Given the description of an element on the screen output the (x, y) to click on. 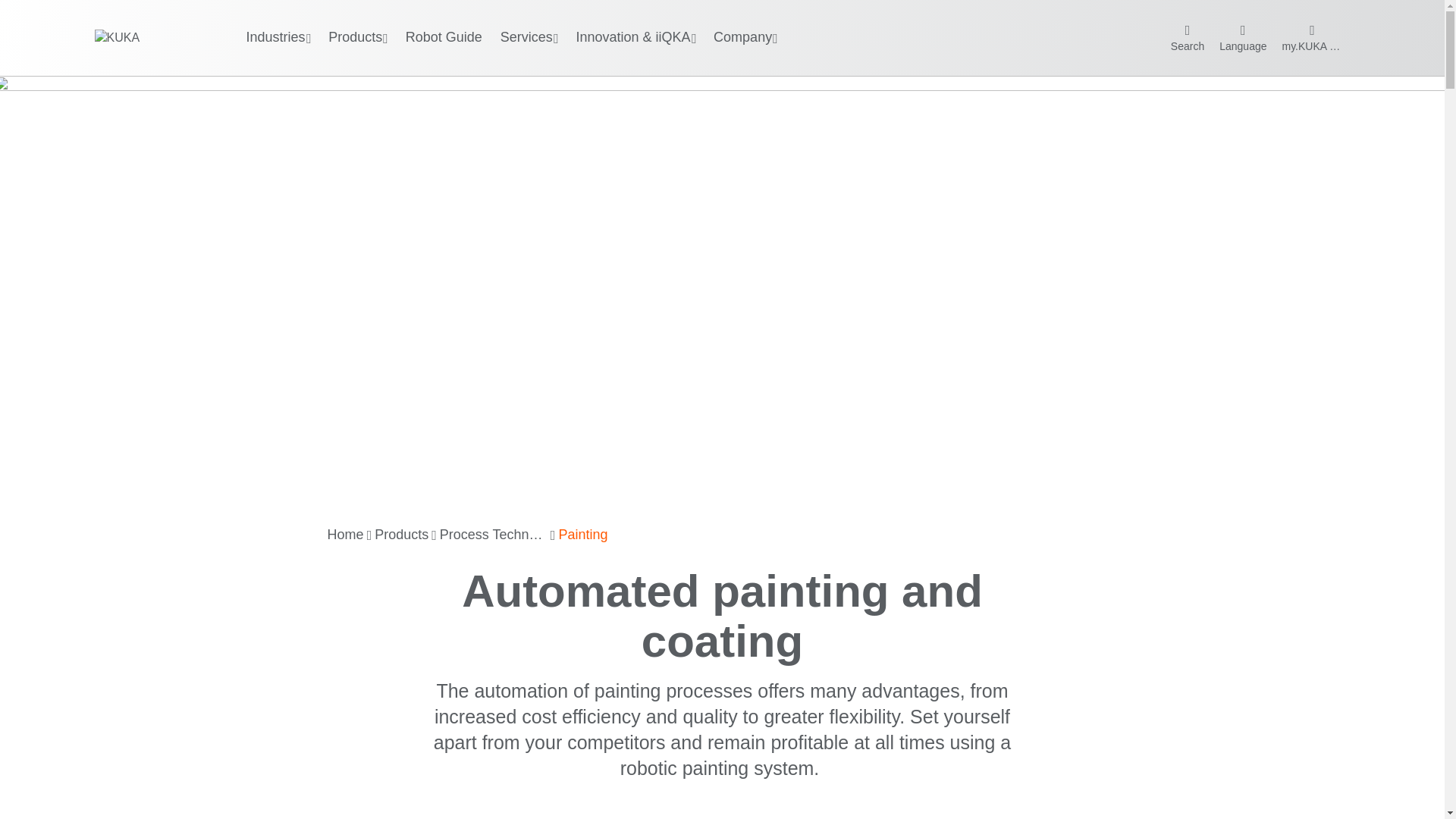
Painting (582, 535)
Home (345, 535)
Products (401, 535)
Process Technologies (493, 535)
